Given the description of an element on the screen output the (x, y) to click on. 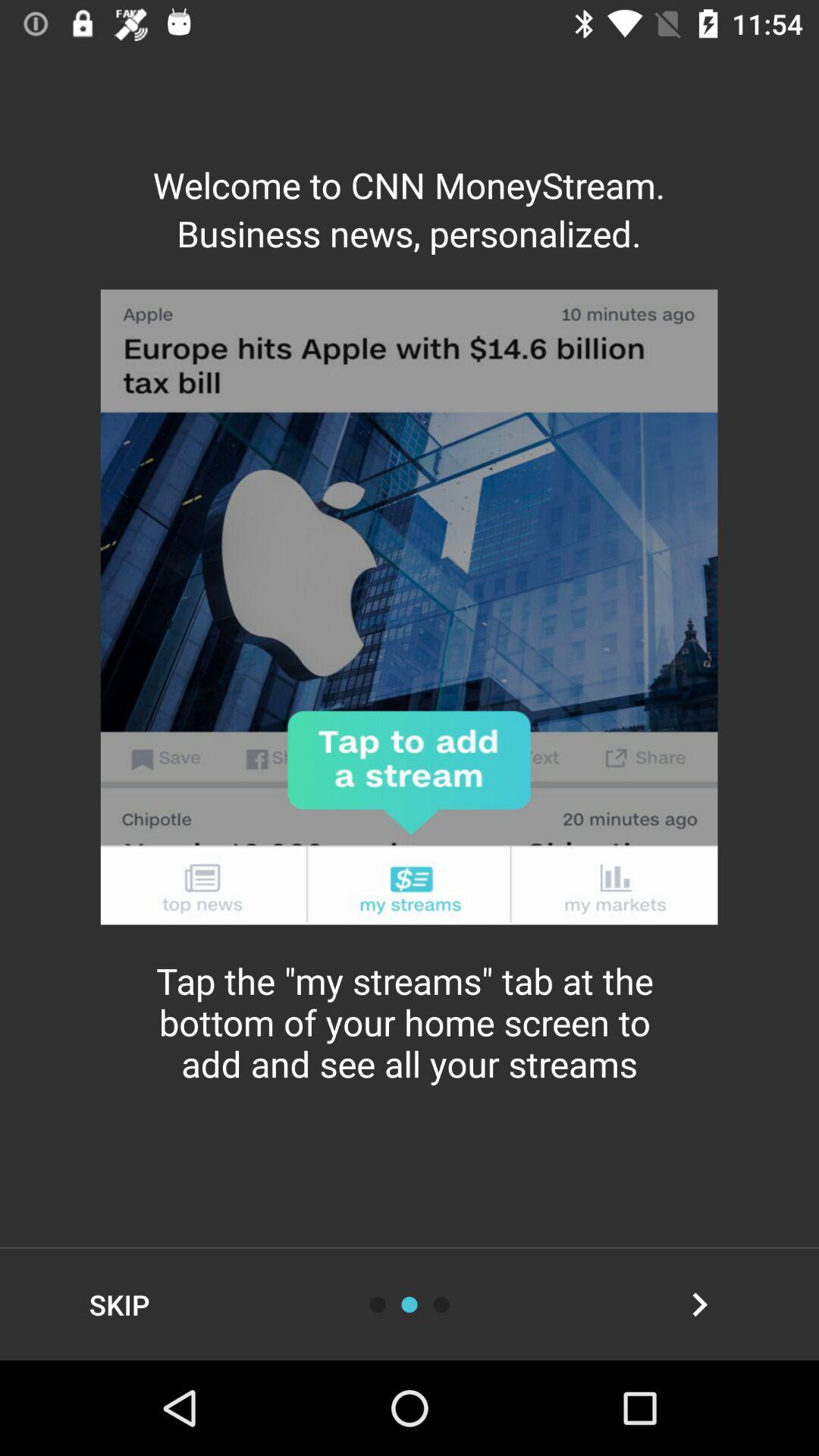
go to next screen (699, 1304)
